Given the description of an element on the screen output the (x, y) to click on. 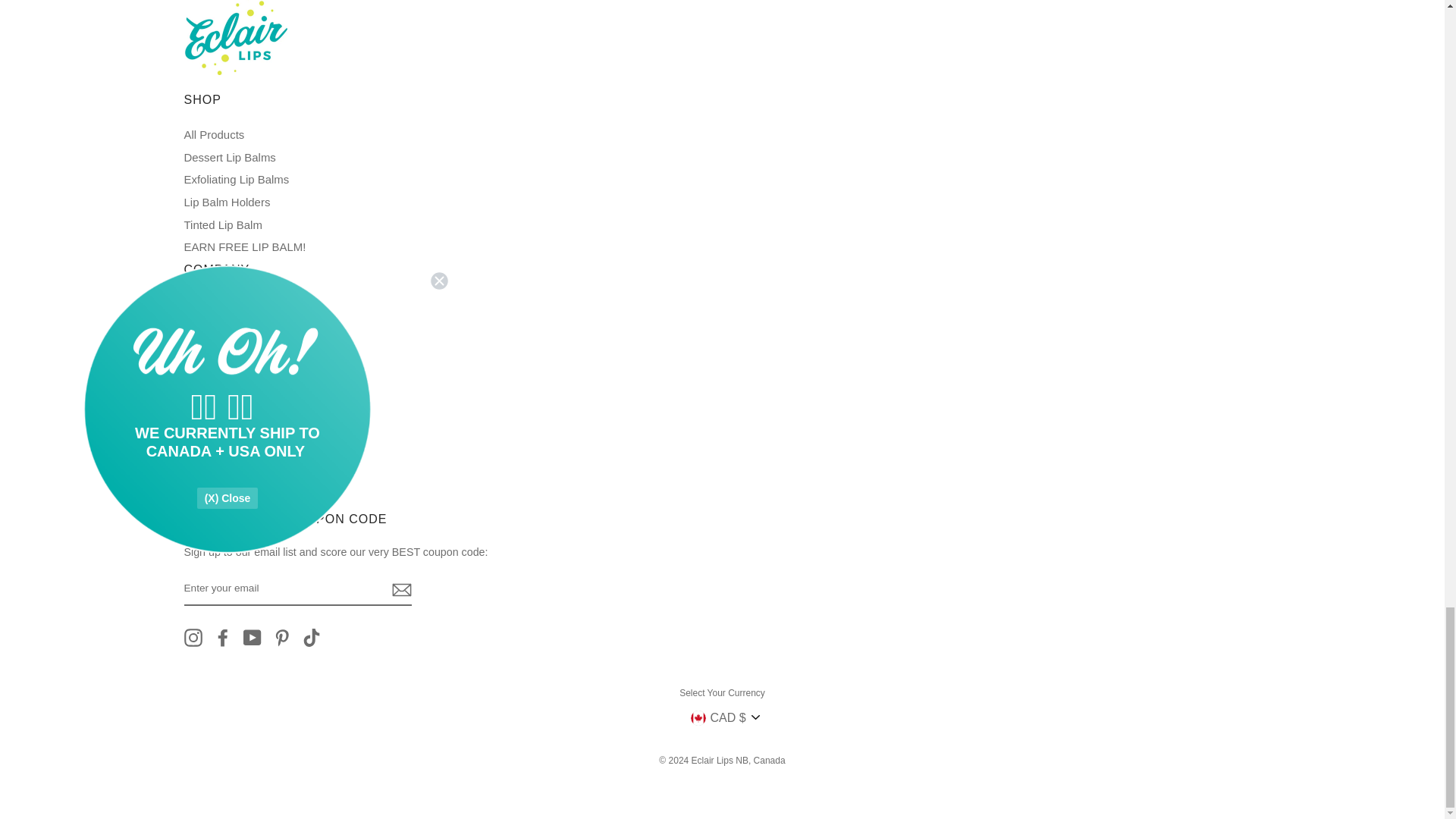
Eclair Lips on Pinterest (282, 637)
Eclair Lips on Instagram (192, 637)
Eclair Lips on Facebook (222, 637)
Eclair Lips on YouTube (251, 637)
Eclair Lips on TikTok (310, 637)
